Given the description of an element on the screen output the (x, y) to click on. 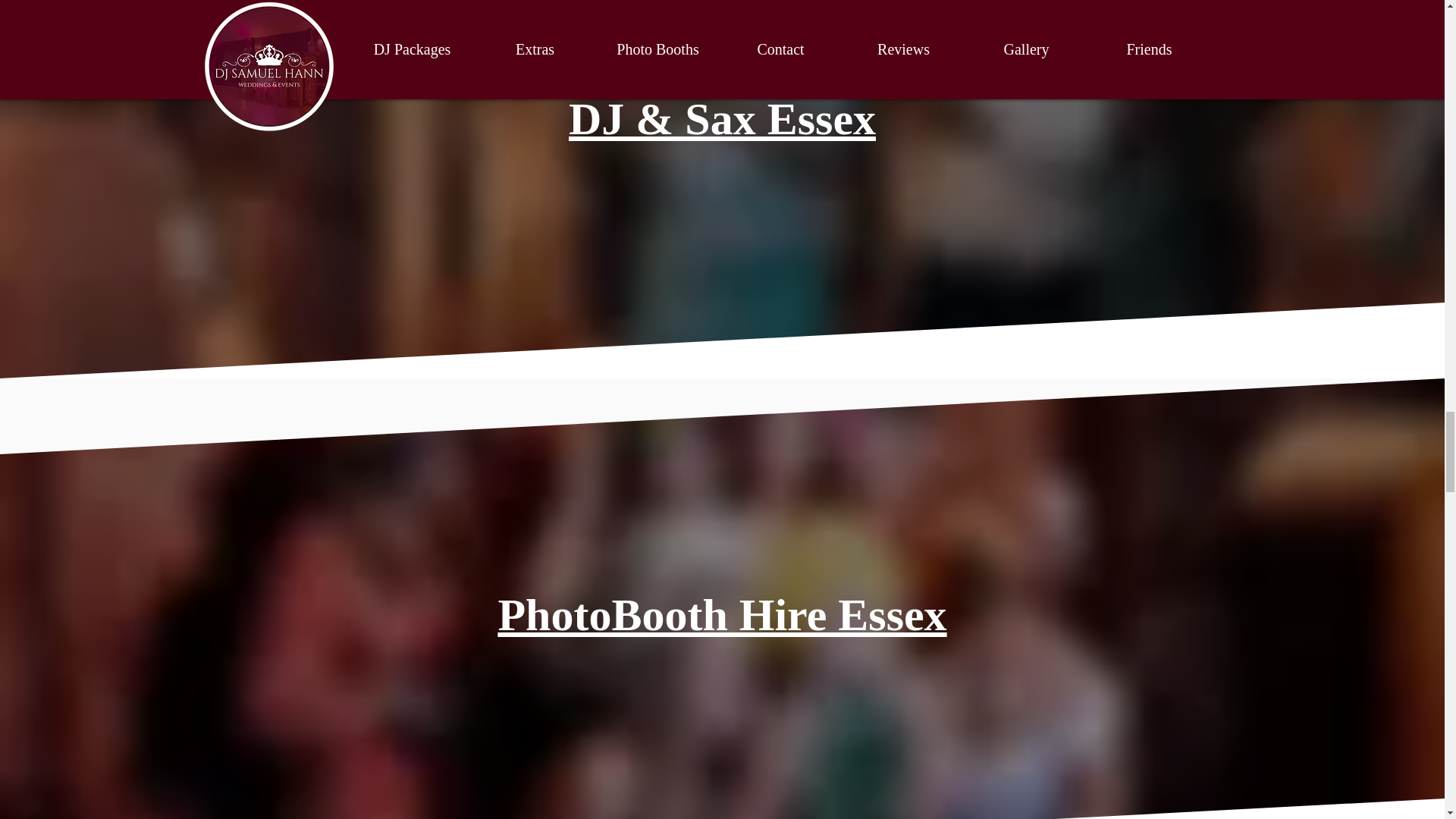
PhotoBooth Hire Essex (721, 613)
